Given the description of an element on the screen output the (x, y) to click on. 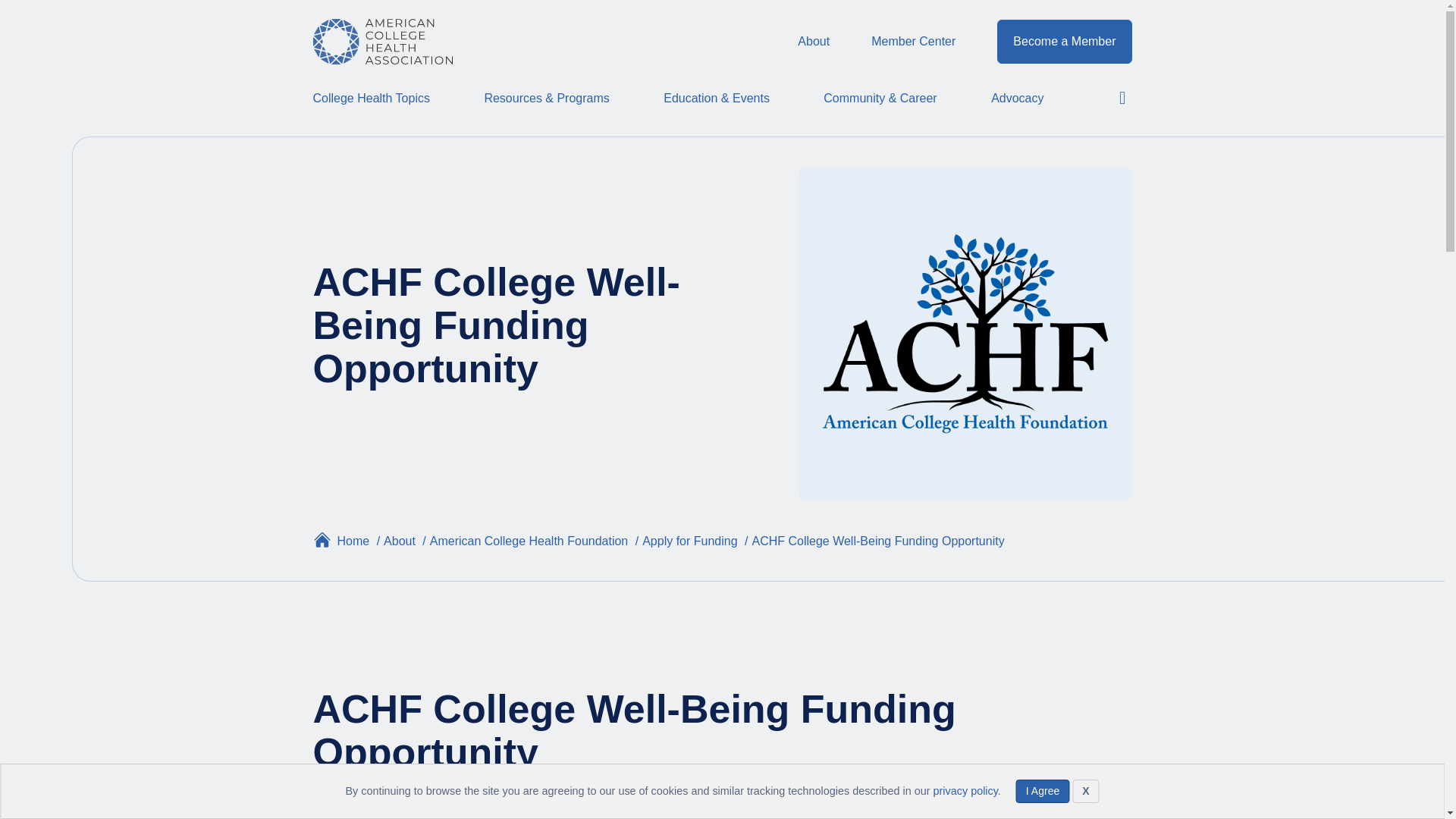
Member Center (918, 41)
privacy policy (965, 790)
About (819, 41)
I Agree (1042, 791)
ACHA-logo (382, 41)
Become a Member (1064, 41)
X (1085, 791)
